Given the description of an element on the screen output the (x, y) to click on. 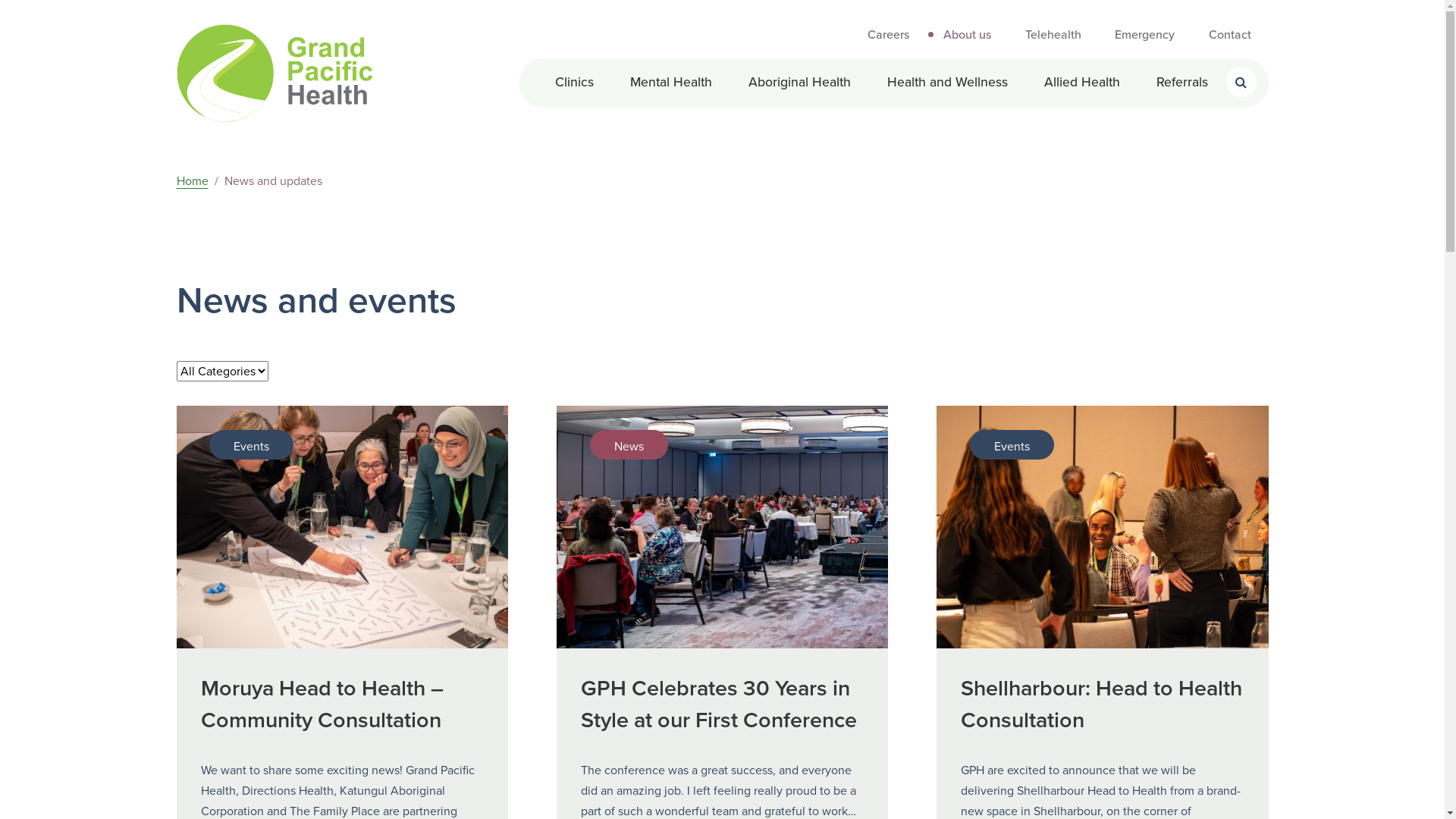
Mental Health Element type: text (670, 82)
Health and Wellness Element type: text (947, 82)
Emergency Element type: text (1144, 34)
About us Element type: text (967, 34)
Allied Health Element type: text (1081, 82)
Telehealth Element type: text (1053, 34)
Referrals Element type: text (1181, 82)
Aboriginal Health Element type: text (798, 82)
Contact Element type: text (1229, 34)
Careers Element type: text (888, 34)
Clinics Element type: text (574, 82)
Home Element type: text (191, 180)
